Given the description of an element on the screen output the (x, y) to click on. 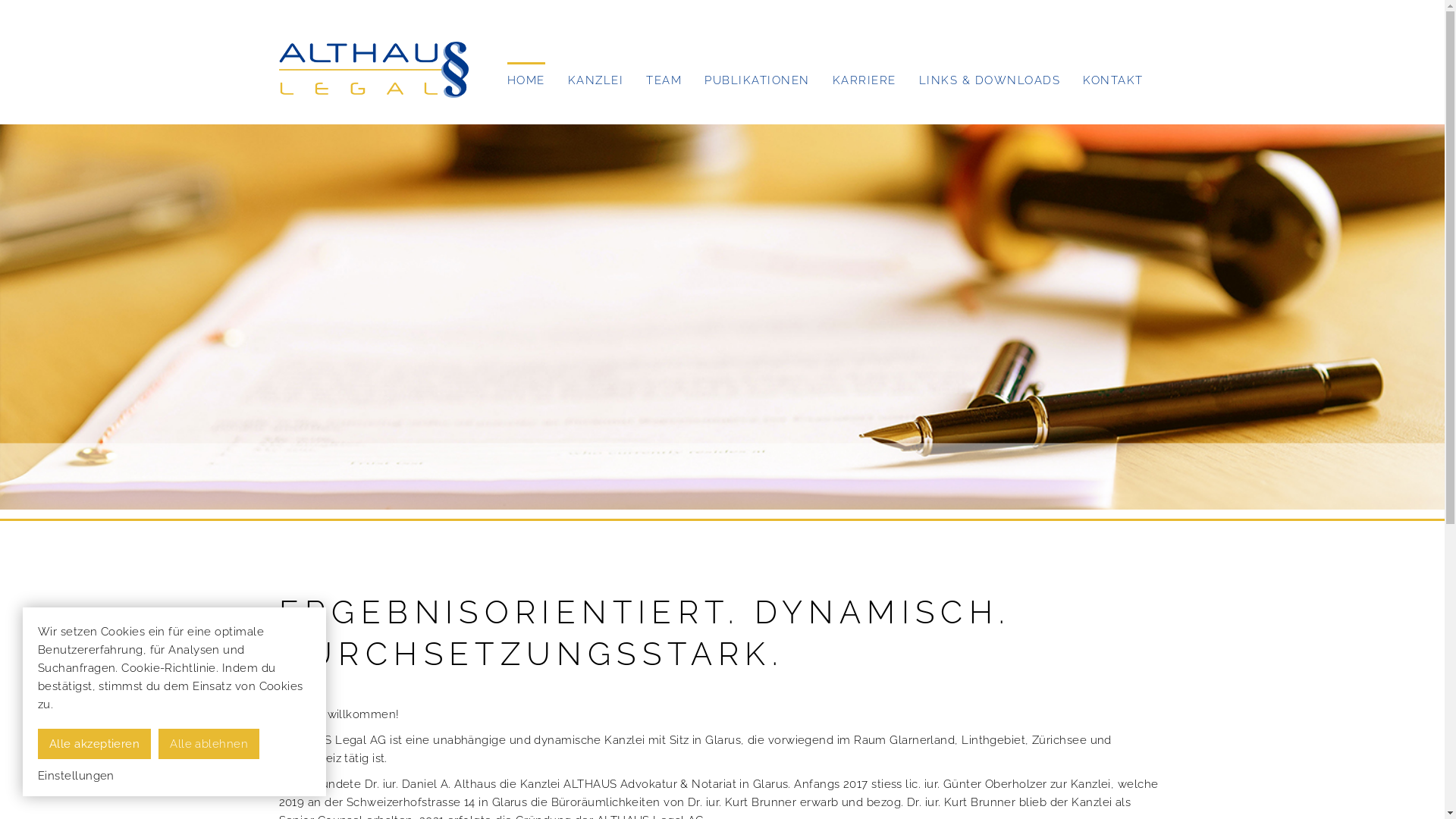
Einstellungen Element type: text (75, 775)
KARRIERE Element type: text (864, 76)
TEAM Element type: text (663, 76)
KANZLEI Element type: text (595, 76)
Alle akzeptieren Element type: text (93, 743)
LINKS & DOWNLOADS Element type: text (989, 76)
KONTAKT Element type: text (1112, 76)
PUBLIKATIONEN Element type: text (756, 76)
Alle ablehnen Element type: text (208, 743)
HOME Element type: text (525, 76)
